Given the description of an element on the screen output the (x, y) to click on. 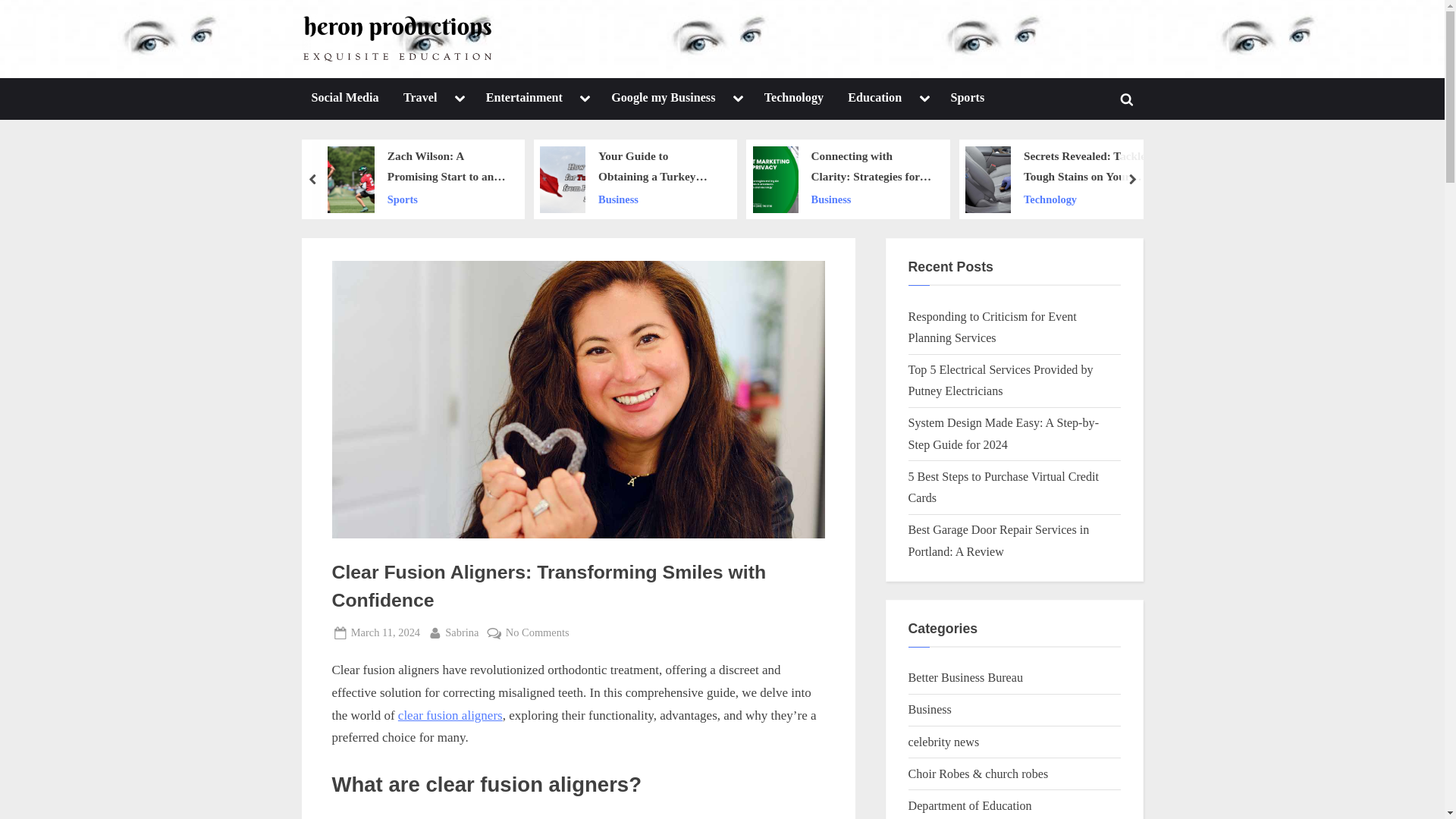
Toggle sub-menu (924, 98)
Entertainment (524, 98)
Zach Wilson: A Promising Start to an NFL Journey (446, 166)
Google my Business (663, 98)
Social Media (344, 98)
Toggle sub-menu (737, 98)
Sports (446, 198)
Technology (793, 98)
Travel (419, 98)
Sports (967, 98)
heronproductions (572, 50)
Toggle sub-menu (584, 98)
Toggle search form (1126, 99)
Education (874, 98)
Toggle sub-menu (459, 98)
